Given the description of an element on the screen output the (x, y) to click on. 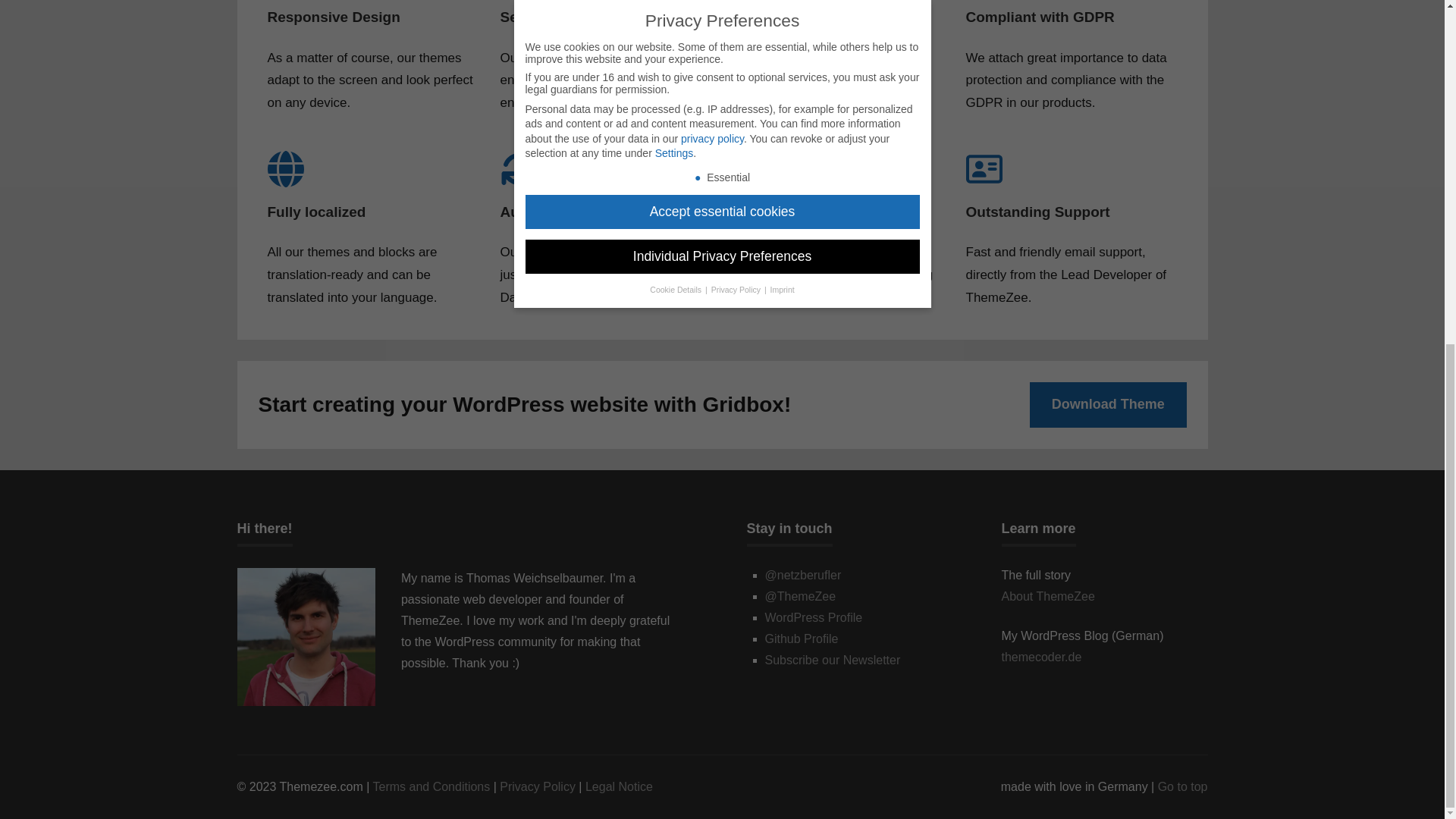
Github Profile (801, 638)
Terms and Conditions (431, 786)
Privacy Policy (537, 786)
themecoder.de (1041, 656)
Go to top (1182, 786)
Subscribe our Newsletter (831, 659)
Legal Notice (618, 786)
WordPress Profile (812, 617)
About ThemeZee (1047, 595)
Download Theme (1107, 403)
